Given the description of an element on the screen output the (x, y) to click on. 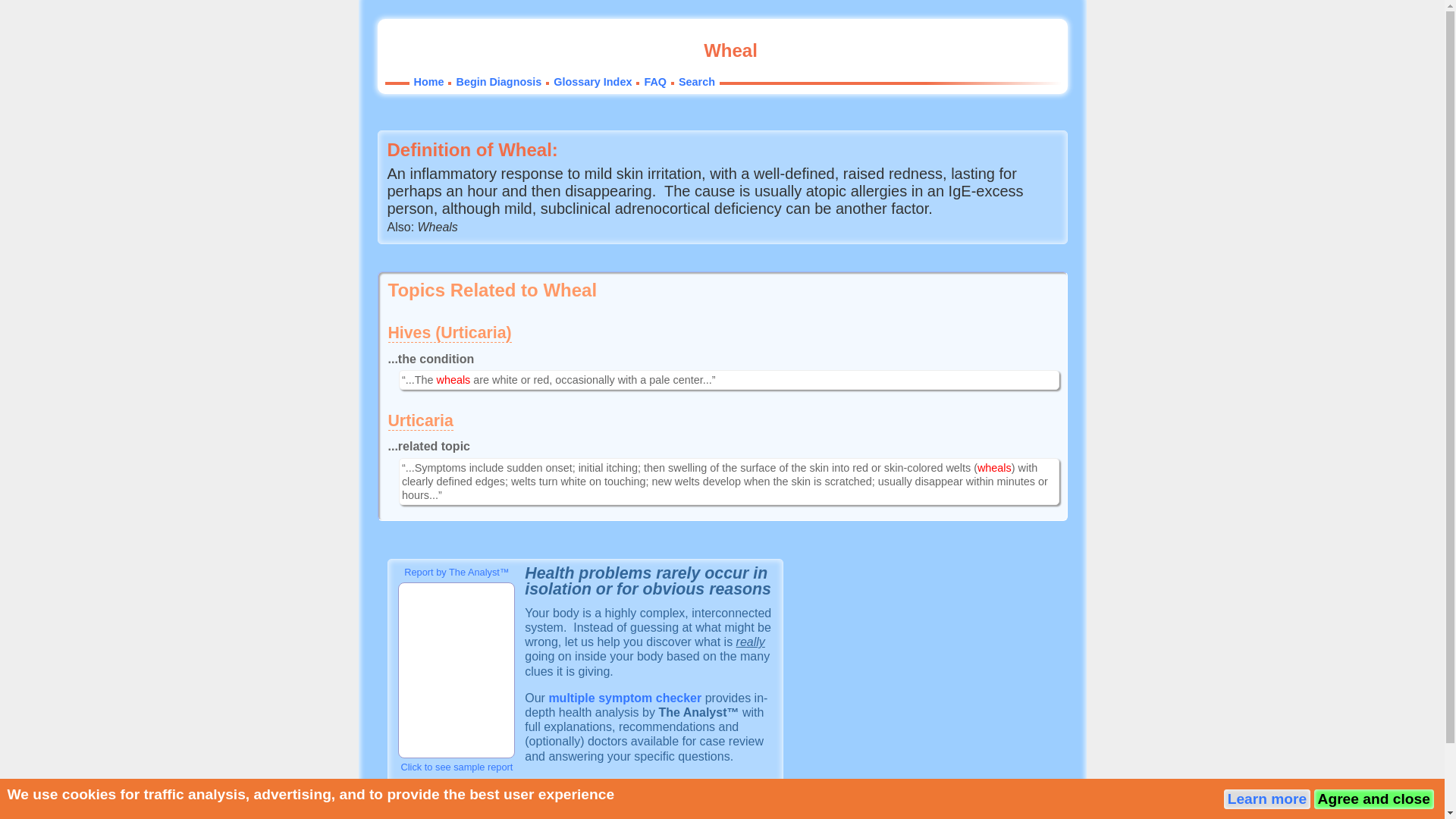
FAQ (557, 816)
Search (696, 81)
Learn more (1267, 798)
Glossary Index (592, 81)
Search (598, 816)
Home (421, 816)
multiple symptom checker (624, 697)
Begin Diagnosis (498, 81)
Begin Diagnosis (491, 816)
Home (428, 81)
Begin Symptom Entry (624, 697)
Agree and close (1373, 798)
FAQ (654, 81)
Urticaria (420, 420)
